Given the description of an element on the screen output the (x, y) to click on. 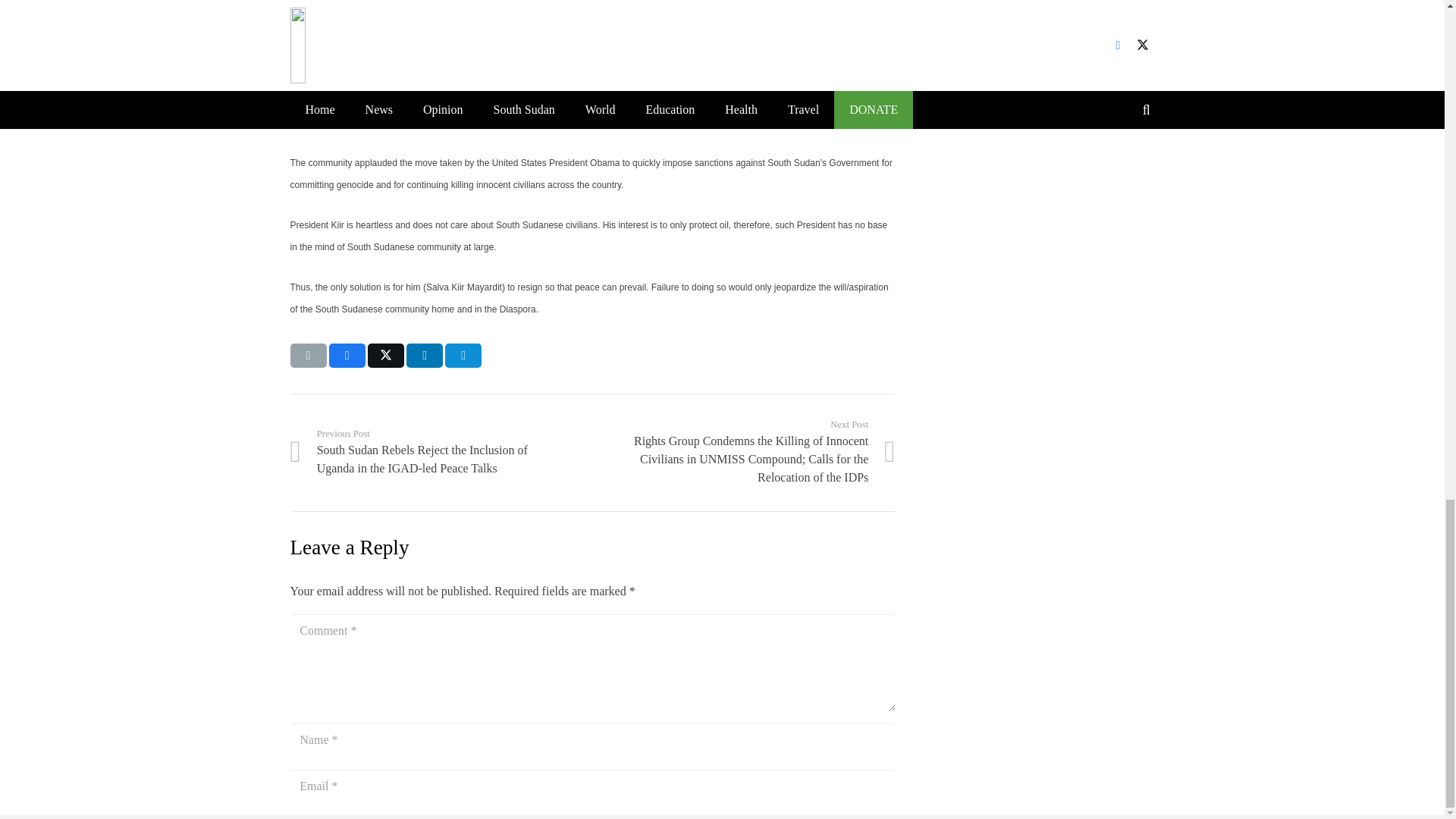
Share this (424, 355)
Share this (347, 355)
Share this (463, 355)
Tweet this (386, 355)
Email this (307, 355)
